Given the description of an element on the screen output the (x, y) to click on. 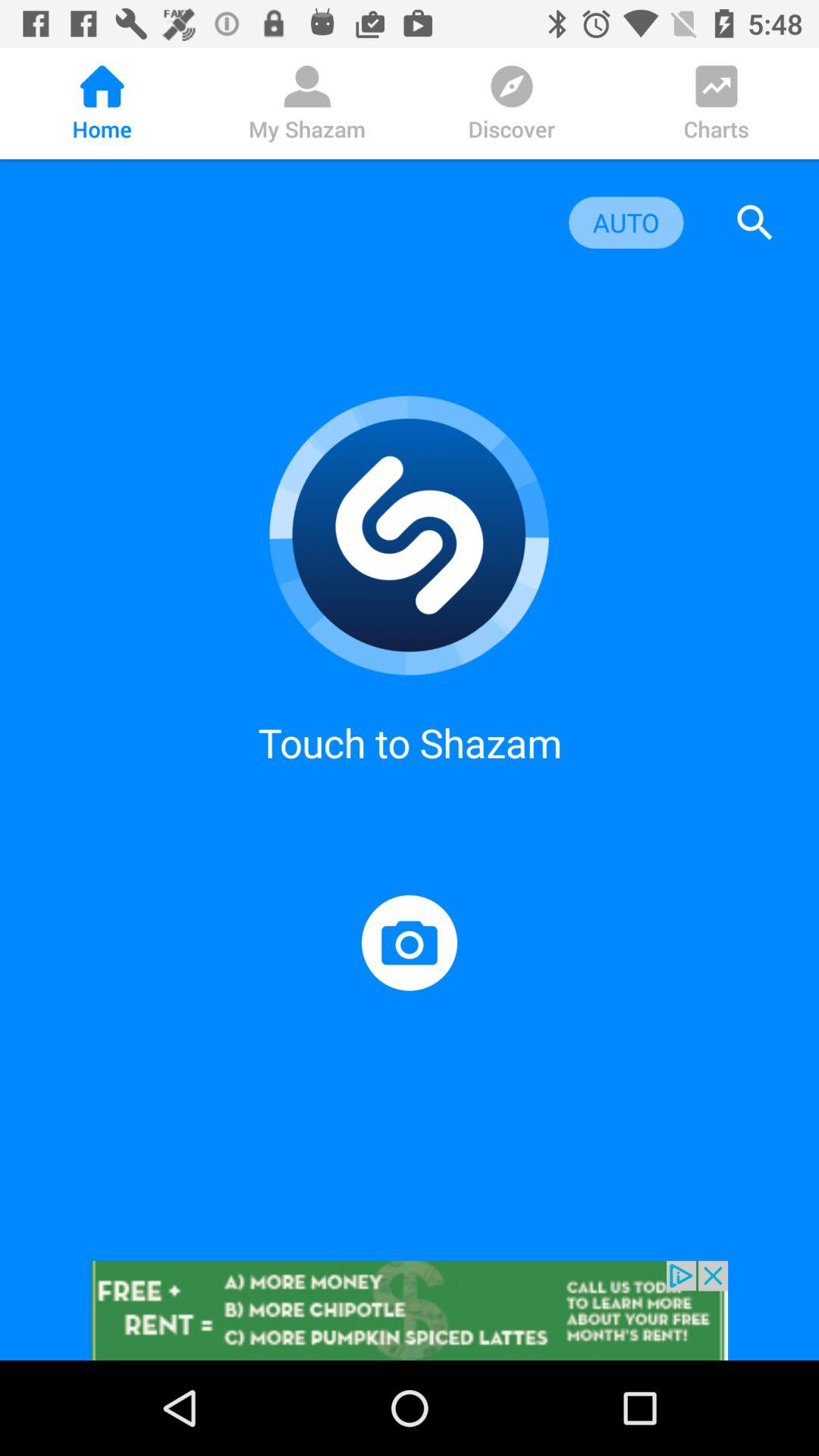
search (755, 222)
